Given the description of an element on the screen output the (x, y) to click on. 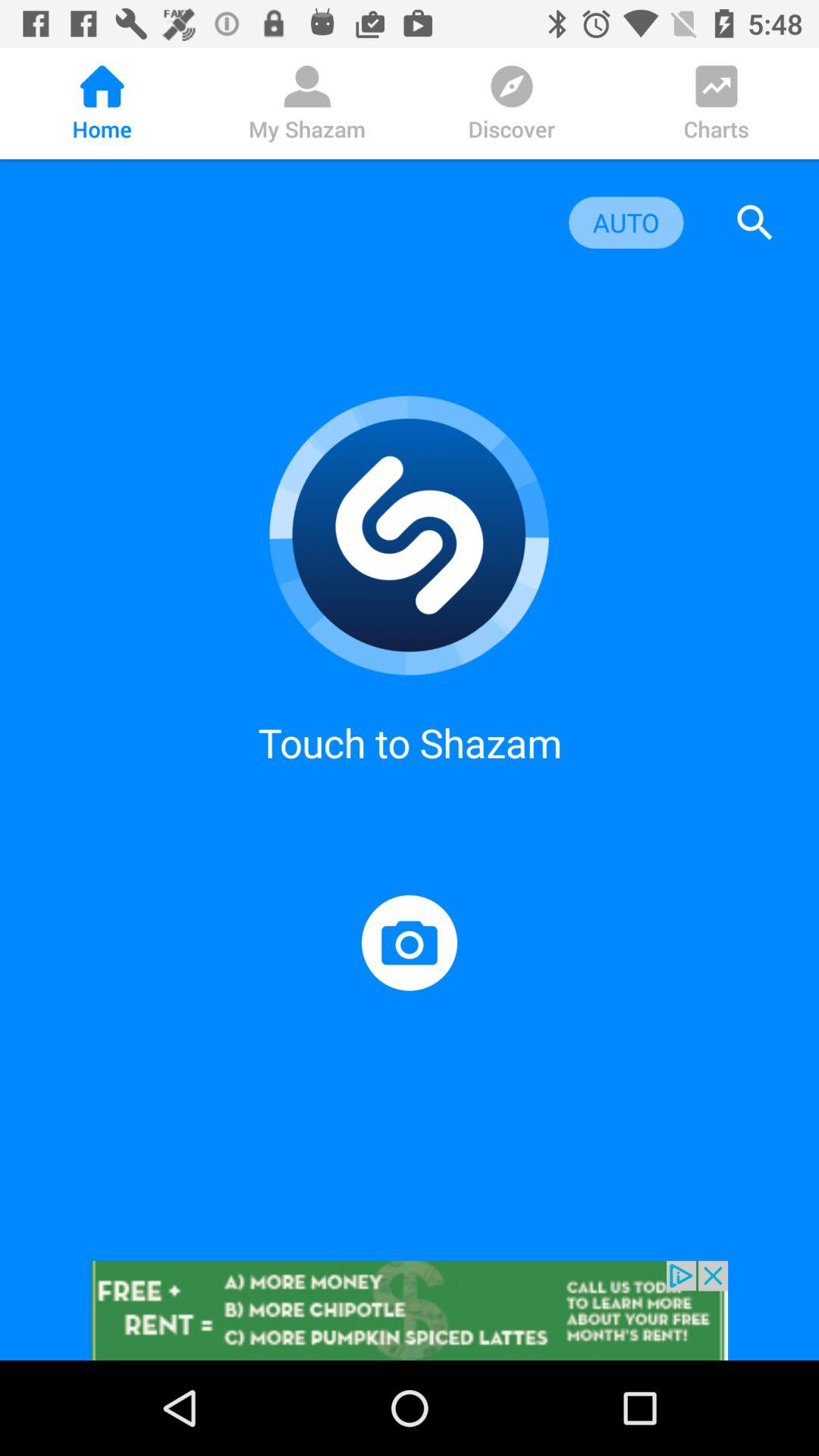
search (755, 222)
